Given the description of an element on the screen output the (x, y) to click on. 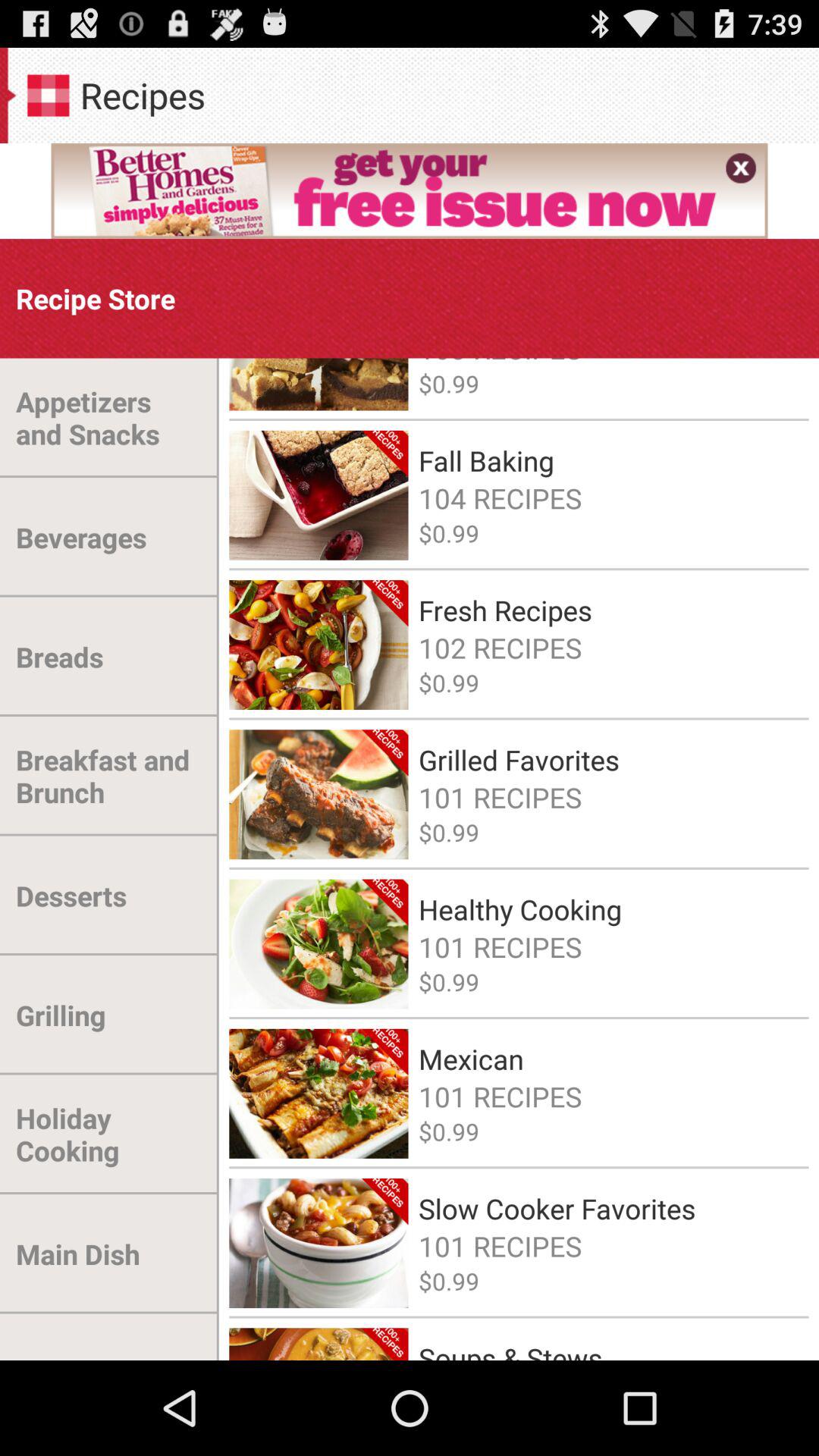
jump until breakfast and brunch item (109, 776)
